Given the description of an element on the screen output the (x, y) to click on. 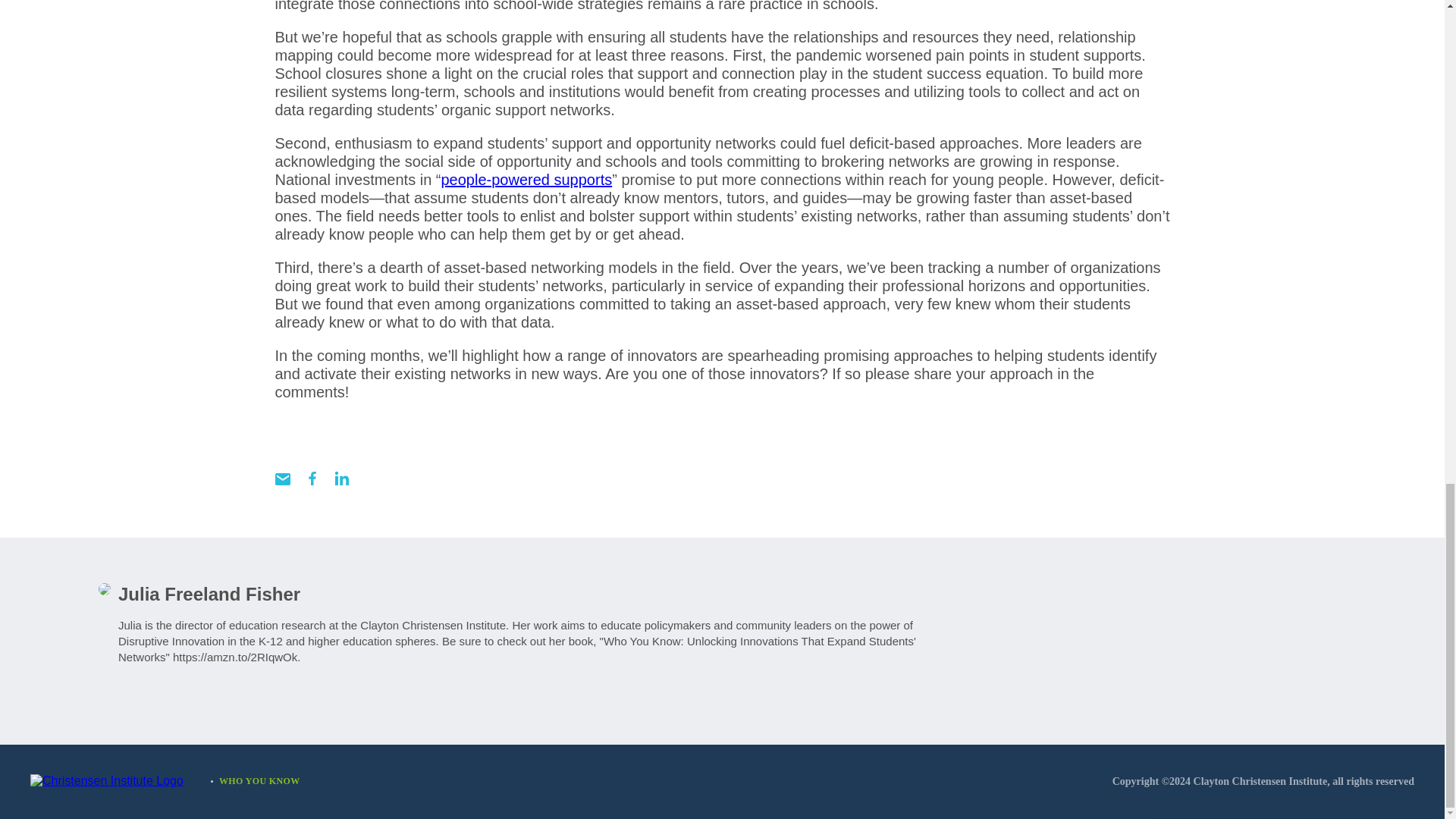
WHO YOU KNOW (259, 781)
people-powered supports (526, 179)
Julia Freeland Fisher (208, 593)
